Given the description of an element on the screen output the (x, y) to click on. 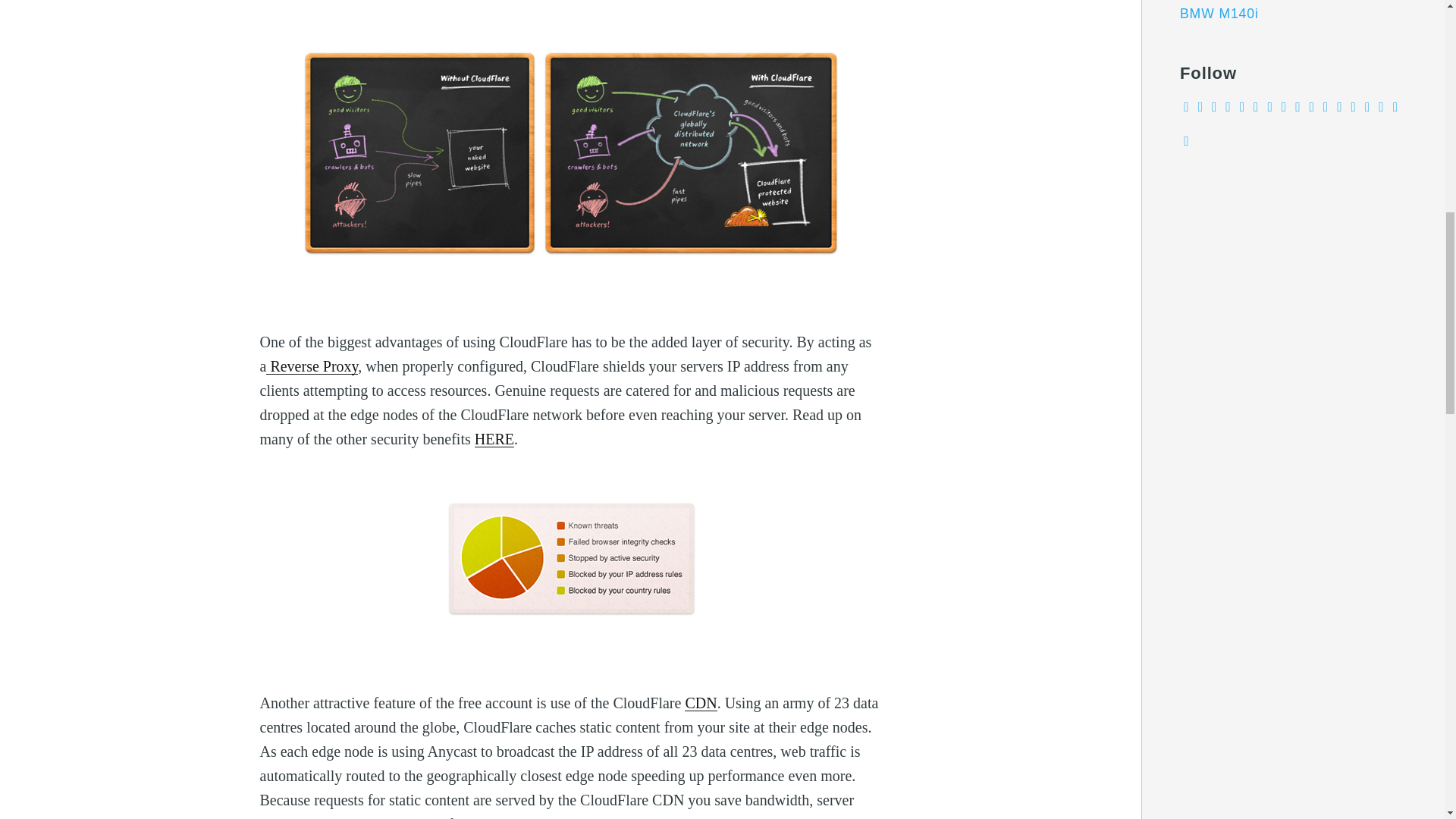
Reverse Proxy (312, 365)
HERE (493, 438)
CloudFlare Security Features (493, 438)
Content Delivery Network (700, 702)
CDN (700, 702)
 Reverse Proxy (312, 365)
